Given the description of an element on the screen output the (x, y) to click on. 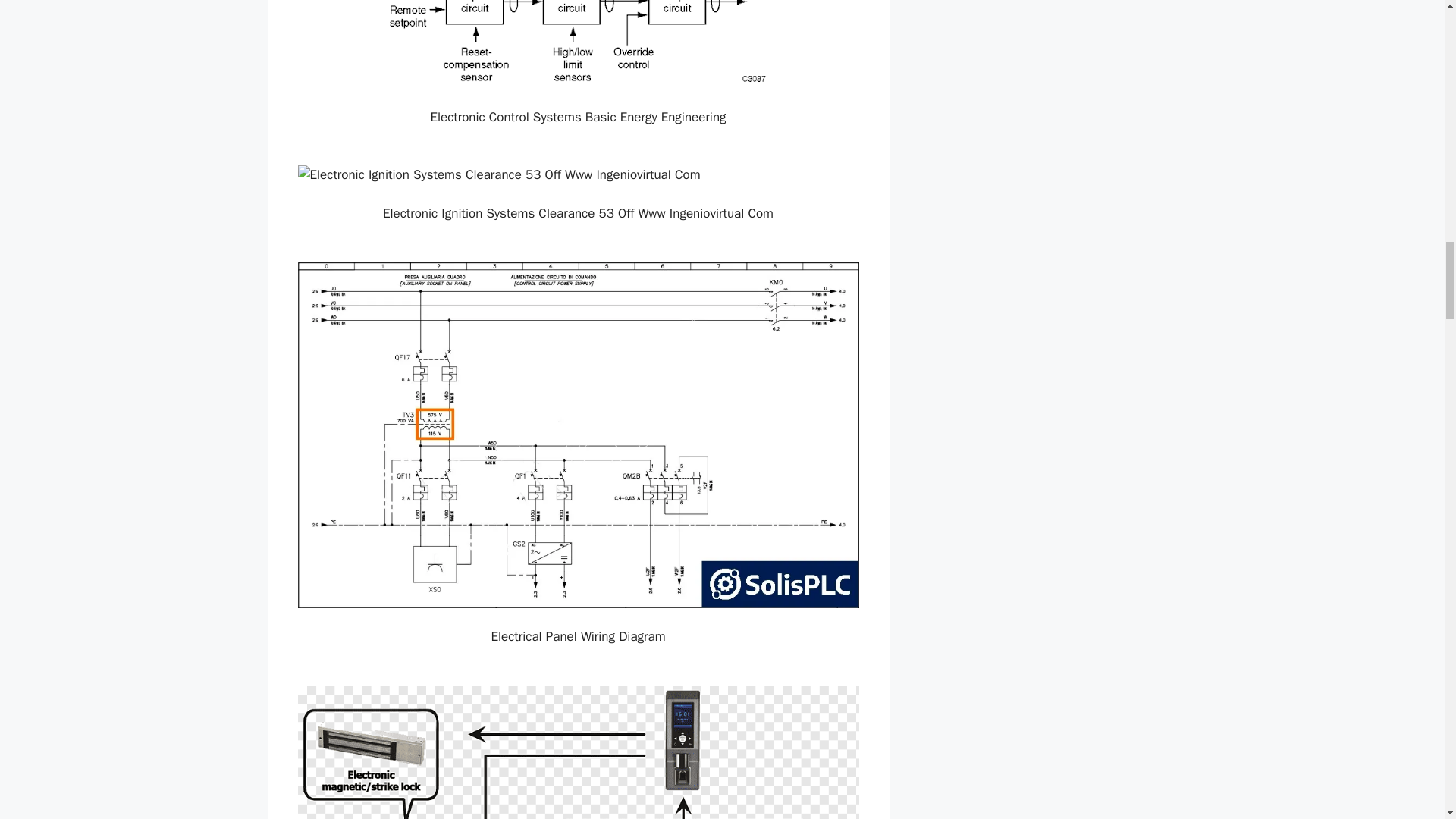
Electronic Control Systems Basic Energy Engineering (577, 43)
